Given the description of an element on the screen output the (x, y) to click on. 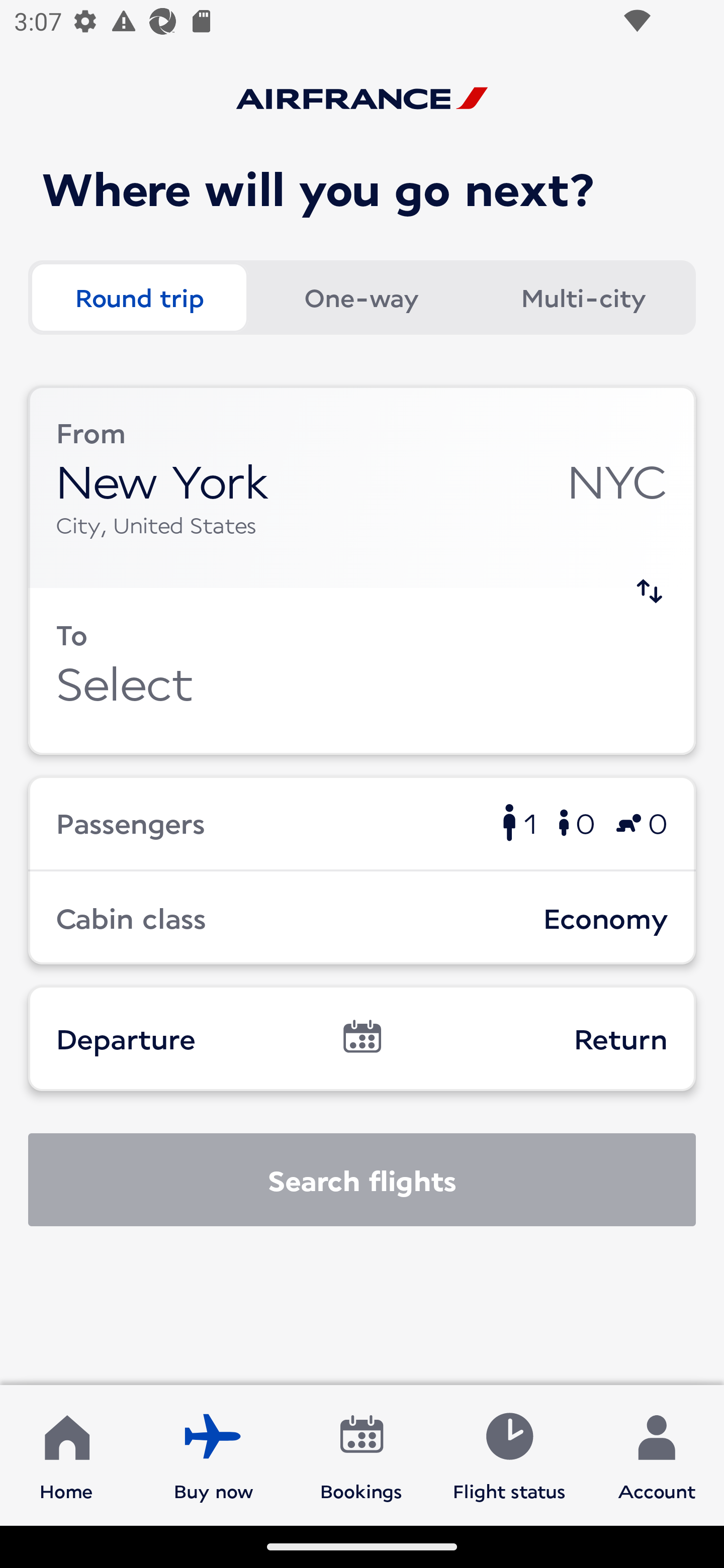
Round trip (139, 297)
One-way (361, 297)
Multi-city (583, 297)
From New York NYC City, United States (361, 486)
To Select (361, 671)
Passengers 1 0 0 (361, 822)
Cabin class Economy (361, 917)
Departure Return (361, 1038)
Search flights (361, 1179)
Home (66, 1454)
Bookings (361, 1454)
Flight status (509, 1454)
Account (657, 1454)
